Given the description of an element on the screen output the (x, y) to click on. 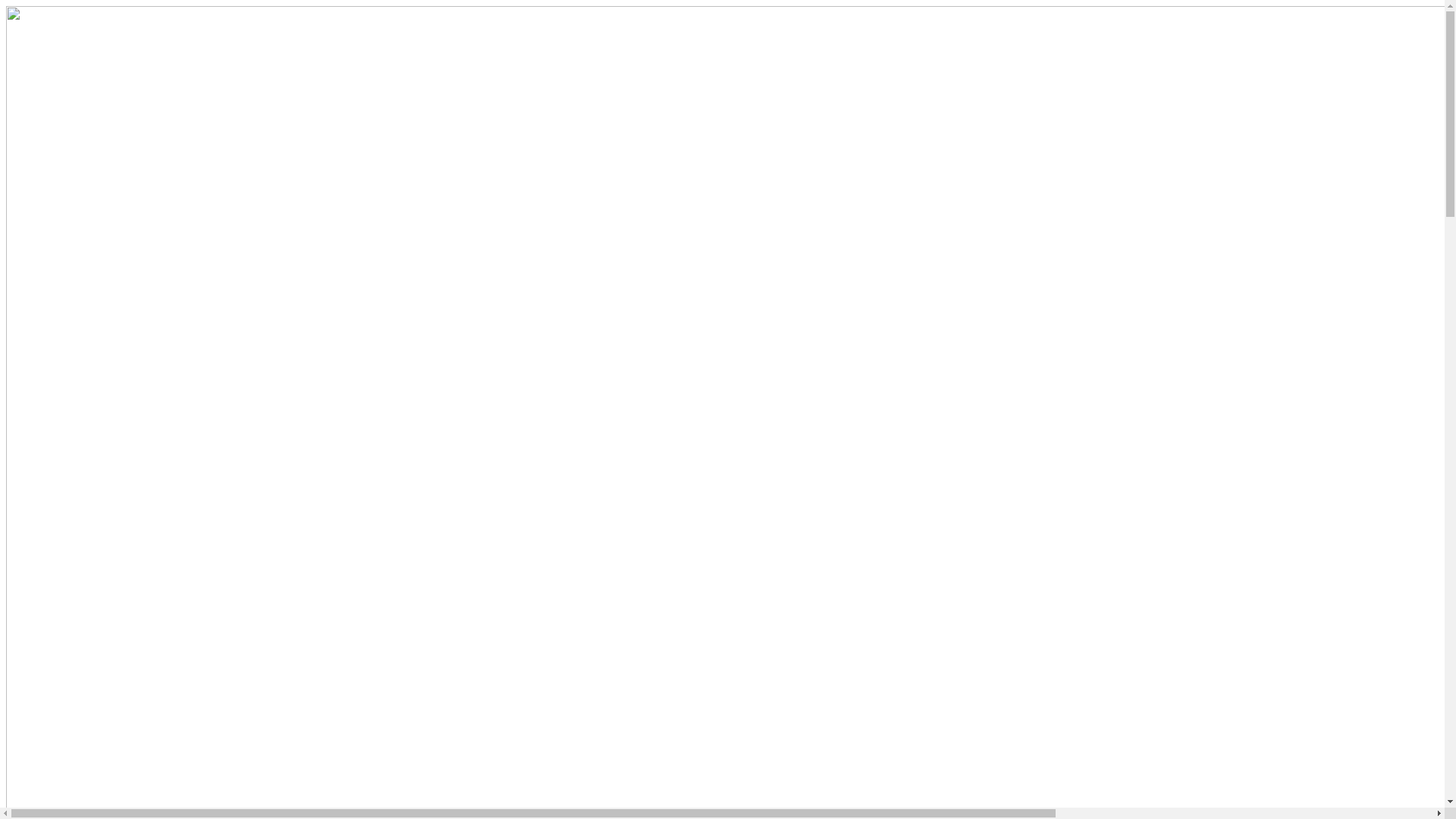
Skip to content Element type: text (6, 6)
